Given the description of an element on the screen output the (x, y) to click on. 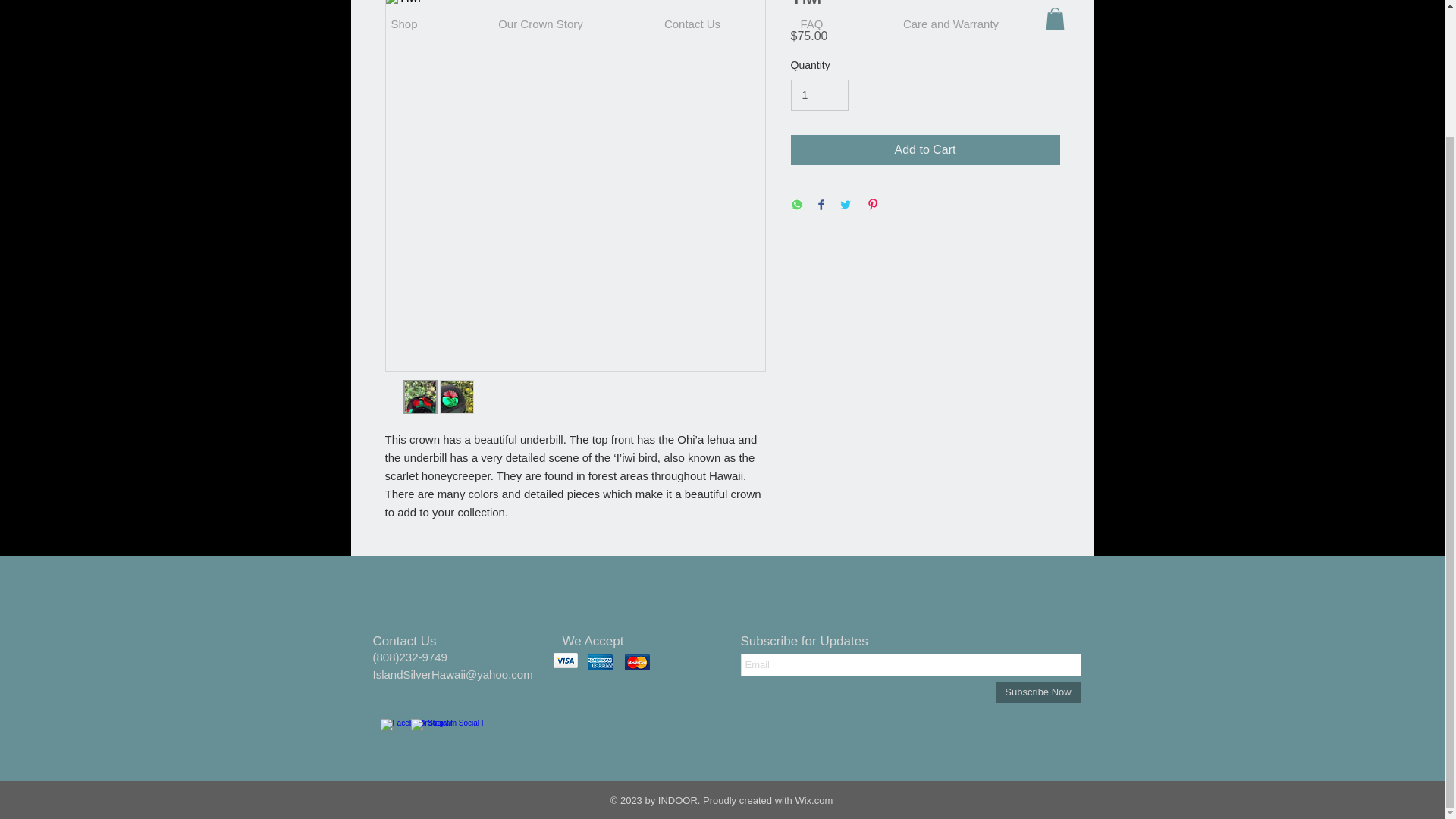
Add to Cart (924, 150)
1 (818, 94)
Wix.com (813, 799)
Subscribe Now (1037, 691)
